Given the description of an element on the screen output the (x, y) to click on. 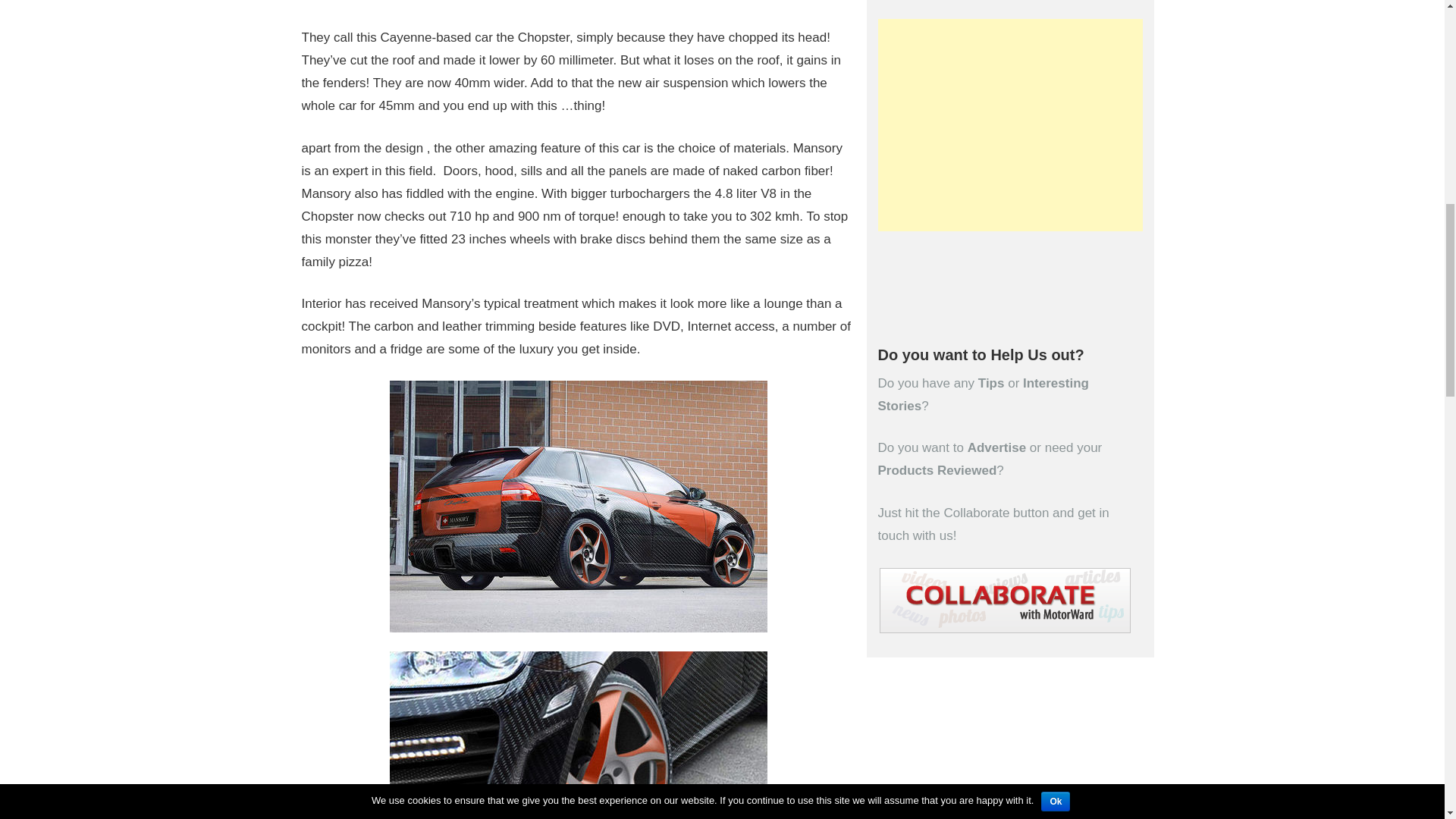
mansory chopster 3 (578, 735)
mansory chopster 2 (578, 506)
